Given the description of an element on the screen output the (x, y) to click on. 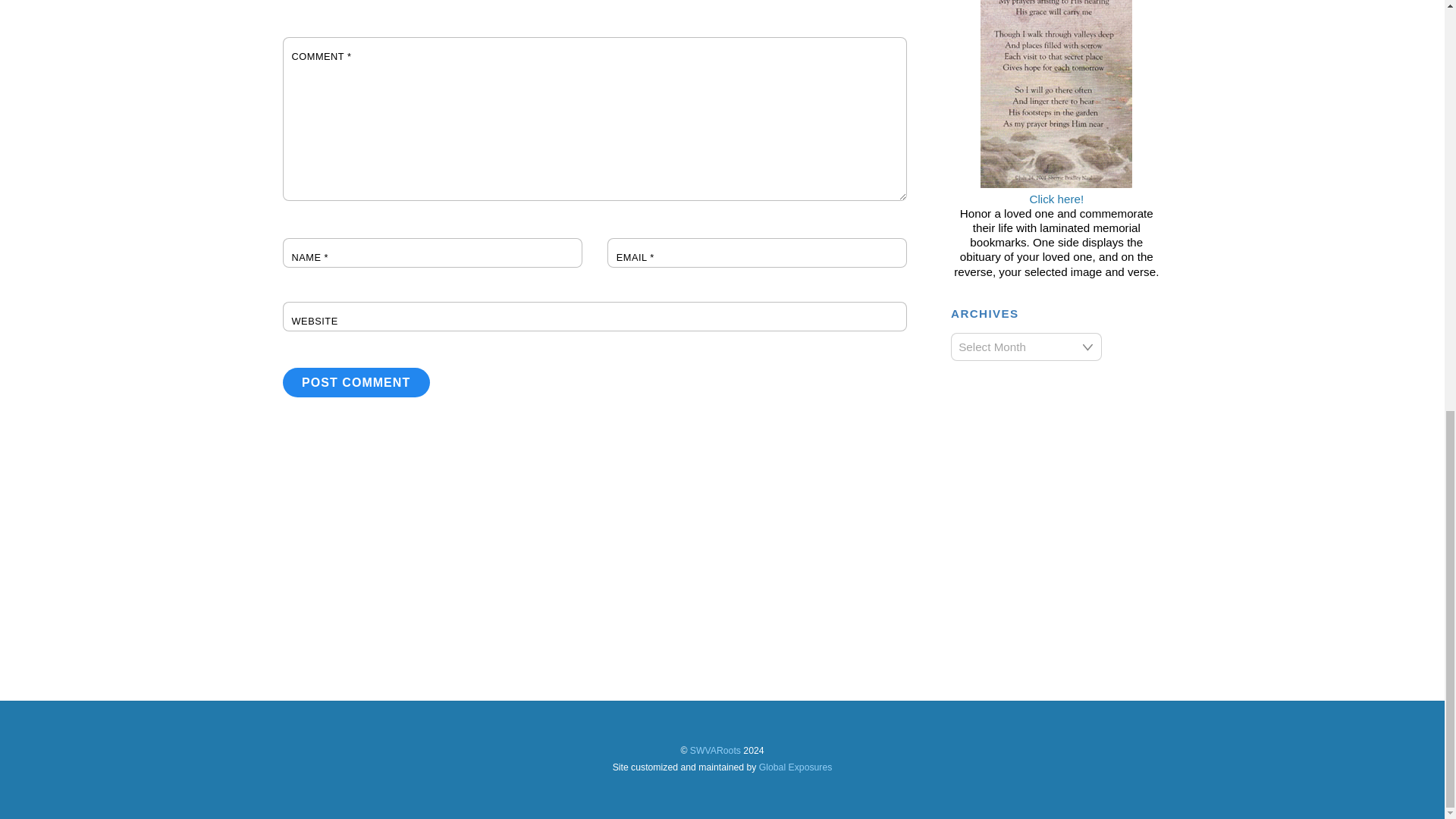
SWVARoots (715, 750)
Global Exposures (795, 767)
Click here! (1055, 190)
Post Comment (355, 382)
Post Comment (355, 382)
